Given the description of an element on the screen output the (x, y) to click on. 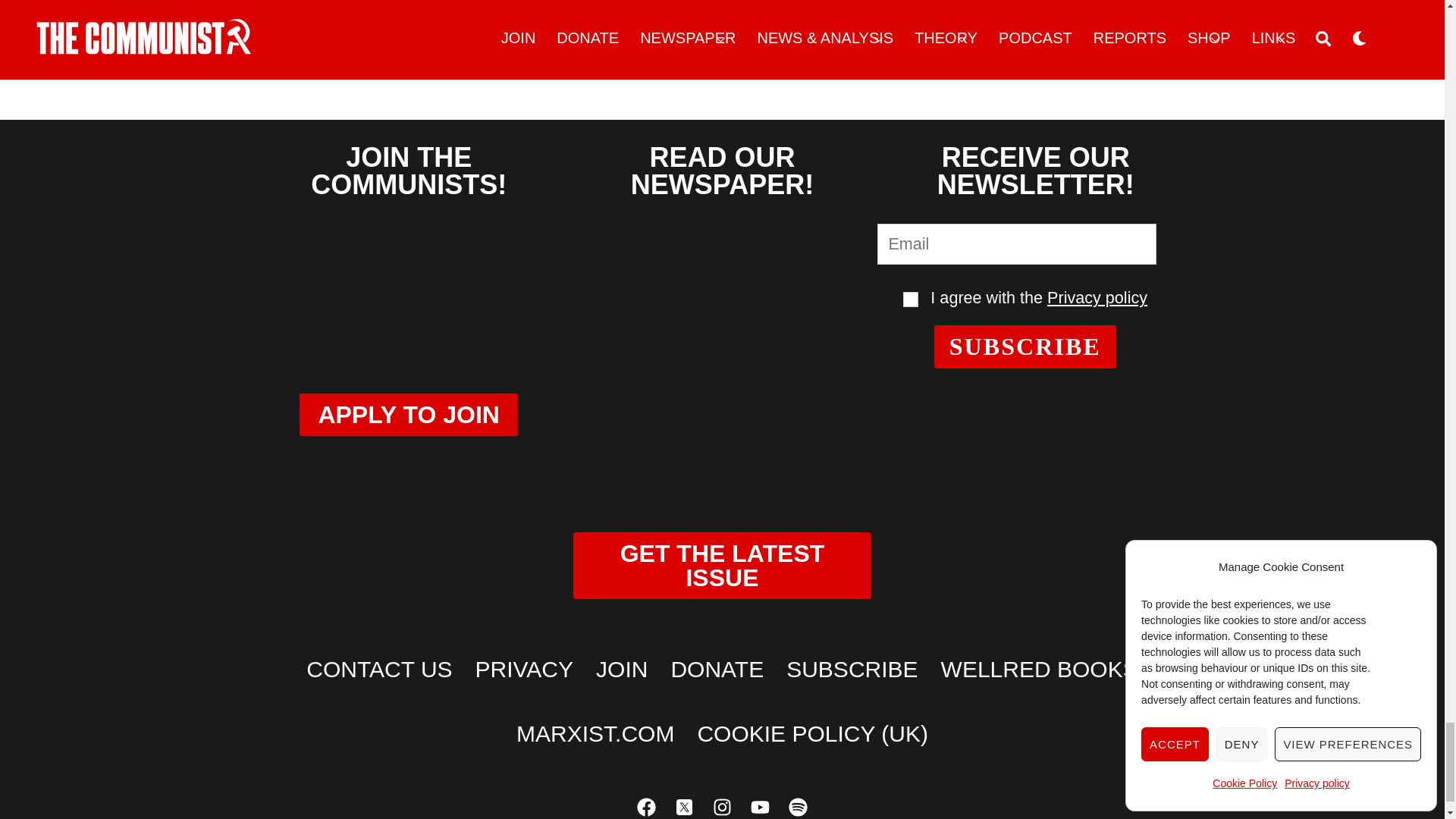
Terms and conditions (910, 299)
Privacy policy (1096, 297)
on (910, 299)
